Given the description of an element on the screen output the (x, y) to click on. 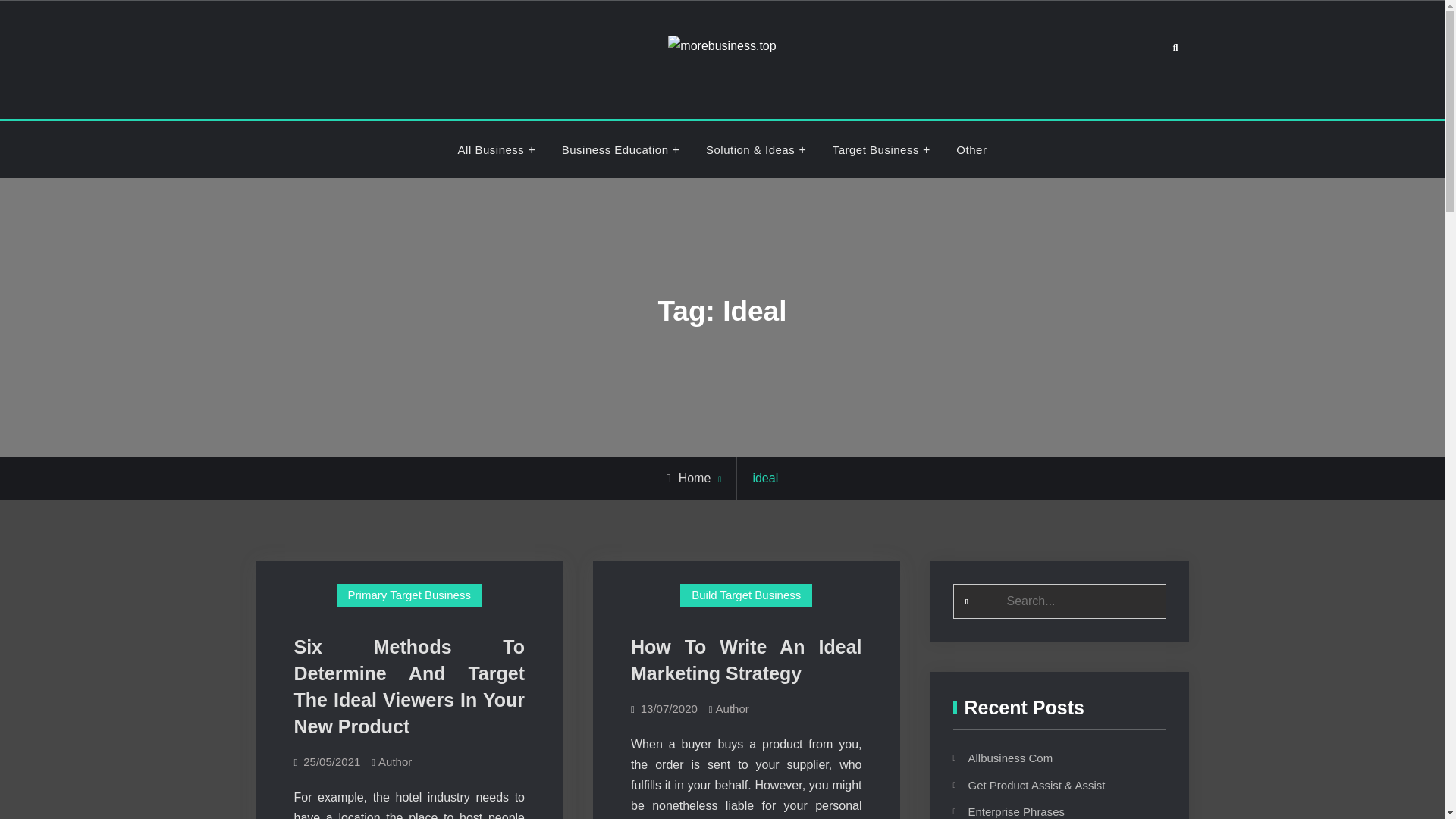
morebusiness.top (806, 87)
Business Education (617, 149)
Other (970, 149)
All Business (492, 149)
Search (1174, 48)
Target Business (876, 149)
